Given the description of an element on the screen output the (x, y) to click on. 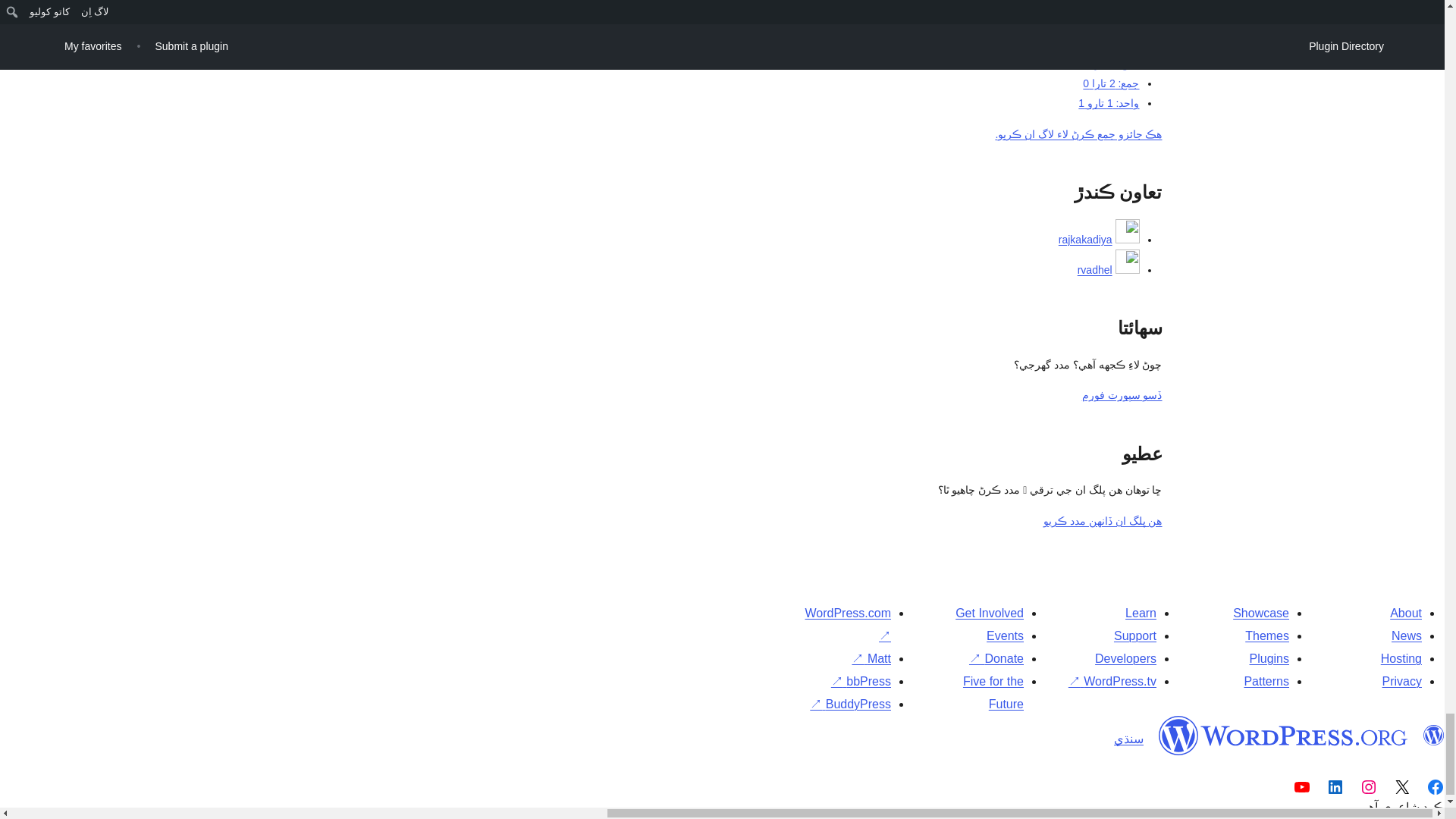
WordPress.org (1433, 735)
WordPress.org (1282, 735)
